Given the description of an element on the screen output the (x, y) to click on. 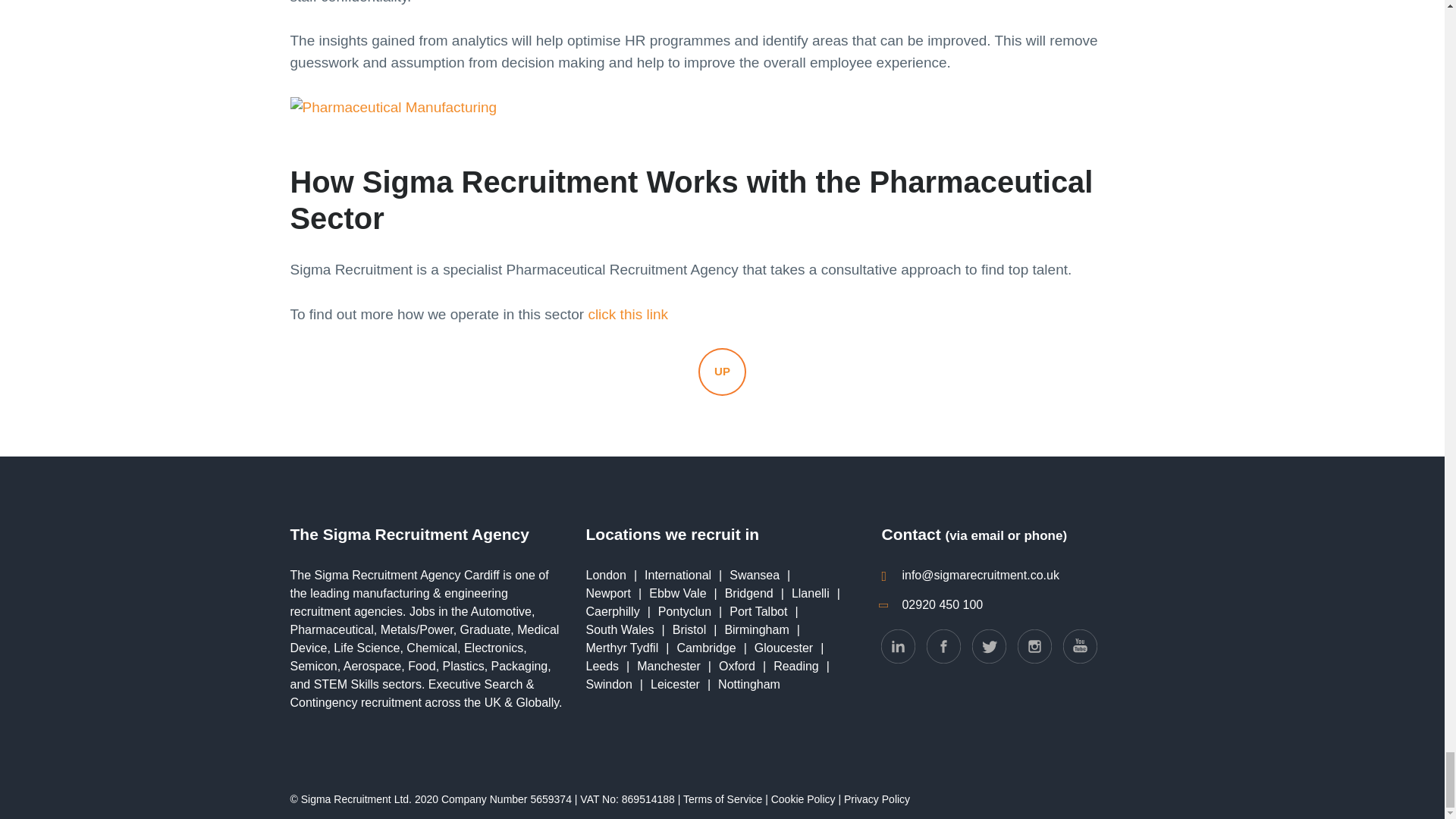
Food (421, 666)
click this link (628, 314)
UP (721, 371)
Automotive (500, 611)
Pharmaceutical (330, 629)
Chemical (431, 647)
Aerospace (372, 666)
Packaging (520, 666)
Electronics (493, 647)
UP (721, 371)
Graduate (485, 629)
Medical Device (424, 638)
Life Science (365, 647)
Plastics (463, 666)
Semicon (312, 666)
